Given the description of an element on the screen output the (x, y) to click on. 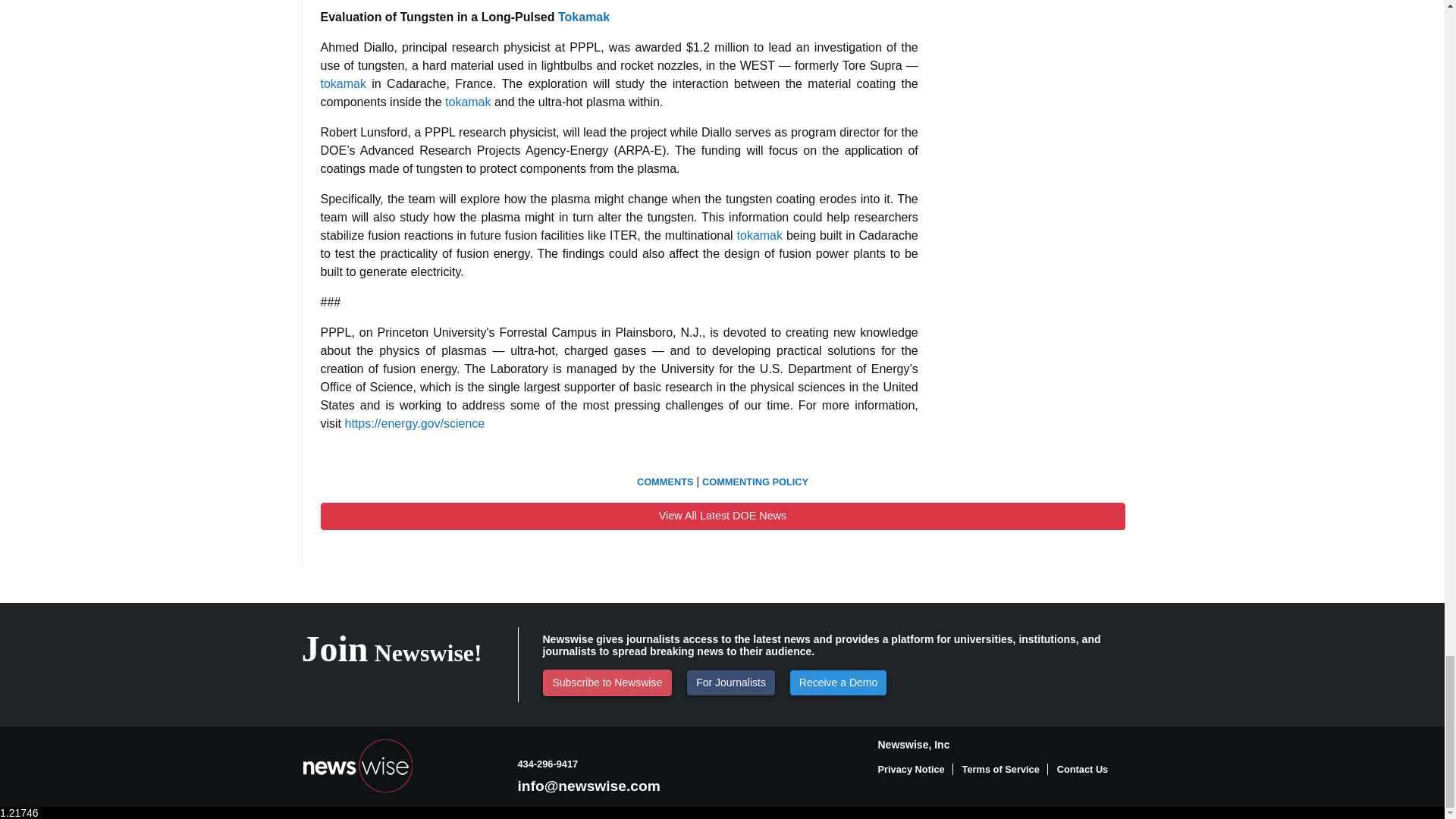
privacy (915, 768)
Newswise commenting policy (754, 481)
Leave a comment... (665, 481)
Newswise logo (357, 766)
